Given the description of an element on the screen output the (x, y) to click on. 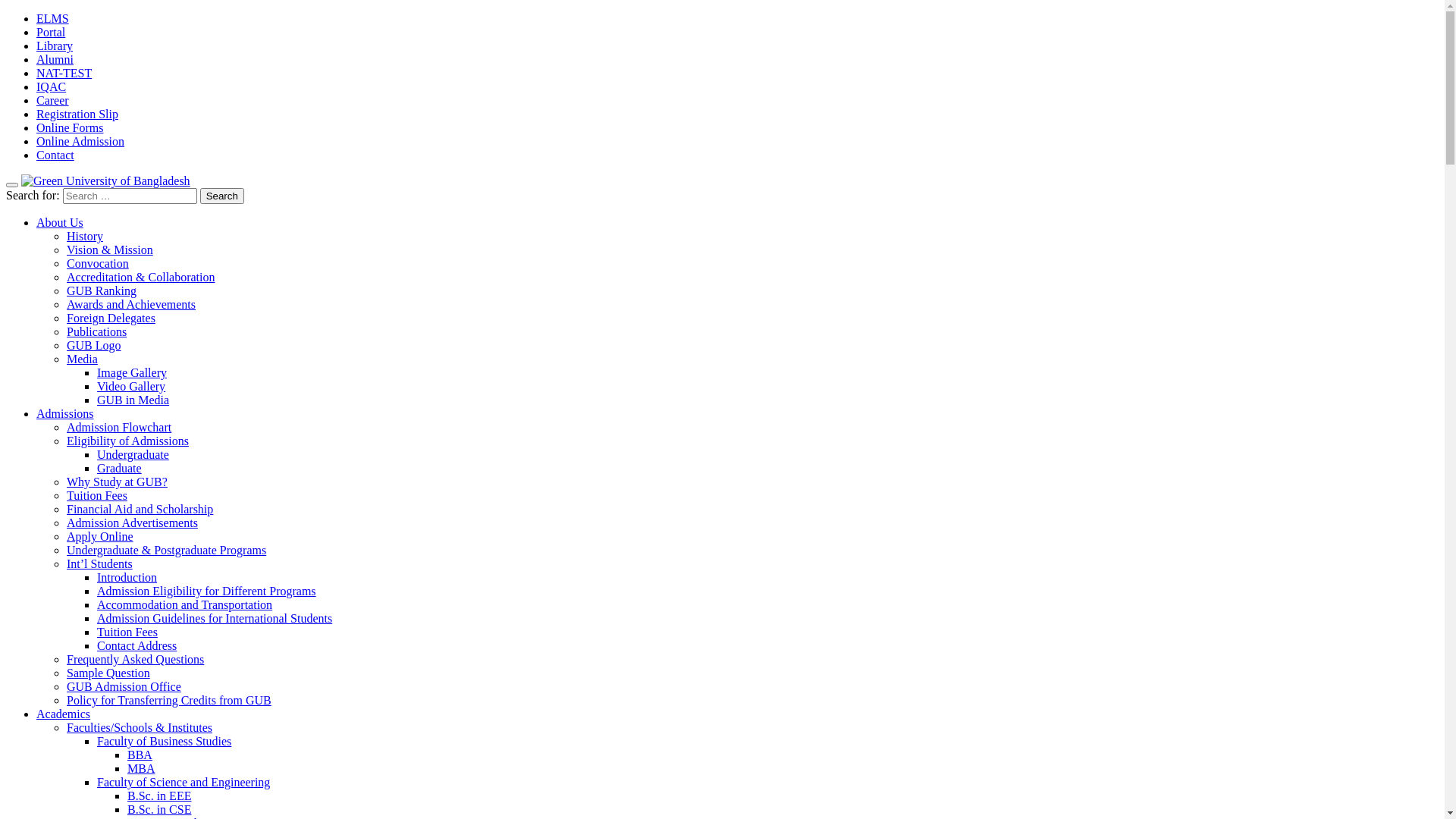
Online Admission Element type: text (80, 140)
Video Gallery Element type: text (131, 385)
Admission Eligibility for Different Programs Element type: text (206, 590)
B.Sc. in CSE Element type: text (159, 809)
Admission Guidelines for International Students Element type: text (214, 617)
Academics Element type: text (63, 713)
Contact Address Element type: text (136, 645)
Faculty of Business Studies Element type: text (164, 740)
Faculties/Schools & Institutes Element type: text (139, 727)
MBA Element type: text (140, 768)
IQAC Element type: text (50, 86)
Vision & Mission Element type: text (109, 249)
Frequently Asked Questions Element type: text (134, 658)
Tuition Fees Element type: text (96, 495)
GUB in Media Element type: text (133, 399)
Eligibility of Admissions Element type: text (127, 440)
Image Gallery Element type: text (131, 372)
Career Element type: text (52, 100)
Apply Online Element type: text (99, 536)
Foreign Delegates Element type: text (110, 317)
Search Element type: text (222, 195)
GUB Logo Element type: text (93, 344)
Portal Element type: text (50, 31)
Sample Question Element type: text (108, 672)
Tuition Fees Element type: text (127, 631)
Undergraduate Element type: text (133, 454)
Why Study at GUB? Element type: text (116, 481)
ELMS Element type: text (52, 18)
Accreditation & Collaboration Element type: text (140, 276)
Faculty of Science and Engineering Element type: text (183, 781)
Awards and Achievements Element type: text (130, 304)
Financial Aid and Scholarship Element type: text (139, 508)
Media Element type: text (81, 358)
Admission Advertisements Element type: text (131, 522)
Alumni Element type: text (54, 59)
Admissions Element type: text (65, 413)
GUB Admission Office Element type: text (123, 686)
About Us Element type: text (59, 222)
BBA Element type: text (139, 754)
Contact Element type: text (55, 154)
NAT-TEST Element type: text (63, 72)
Library Element type: text (54, 45)
History Element type: text (84, 235)
Policy for Transferring Credits from GUB Element type: text (168, 699)
Convocation Element type: text (97, 263)
Registration Slip Element type: text (77, 113)
Admission Flowchart Element type: text (118, 426)
Graduate Element type: text (119, 467)
GUB Ranking Element type: text (101, 290)
Undergraduate & Postgraduate Programs Element type: text (166, 549)
Introduction Element type: text (126, 577)
Online Forms Element type: text (69, 127)
B.Sc. in EEE Element type: text (159, 795)
Accommodation and Transportation Element type: text (184, 604)
Publications Element type: text (96, 331)
